Given the description of an element on the screen output the (x, y) to click on. 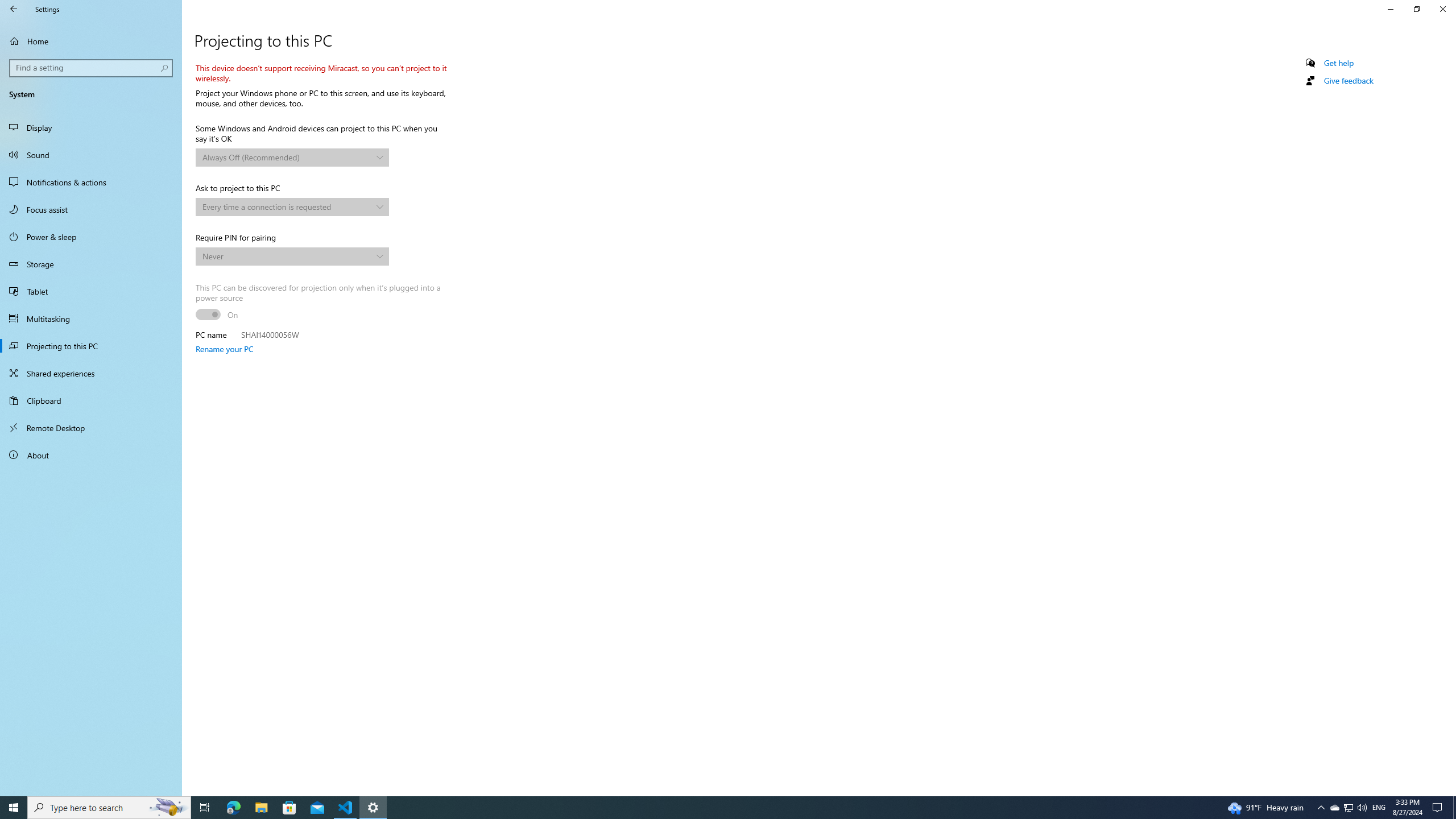
Projecting to this PC (91, 345)
Focus assist (91, 208)
Multitasking (91, 318)
